Given the description of an element on the screen output the (x, y) to click on. 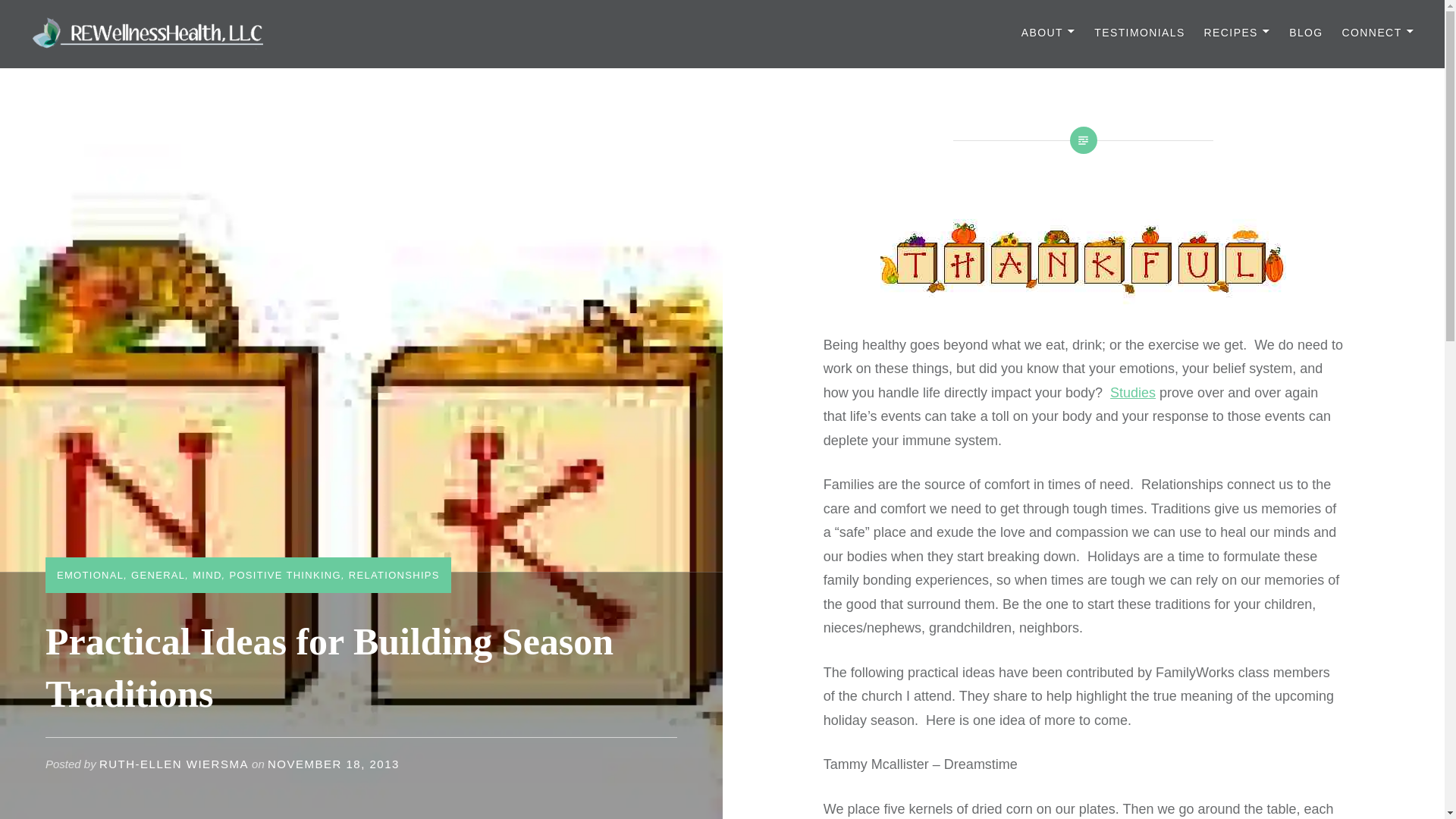
RELATIONSHIPS (394, 574)
TESTIMONIALS (1139, 32)
RUTH-ELLEN WIERSMA (173, 763)
NOVEMBER 18, 2013 (332, 763)
Studies (1132, 392)
BLOG (1305, 32)
EMOTIONAL (89, 574)
RECIPES (1237, 32)
GO (608, 18)
POSITIVE THINKING (284, 574)
